Given the description of an element on the screen output the (x, y) to click on. 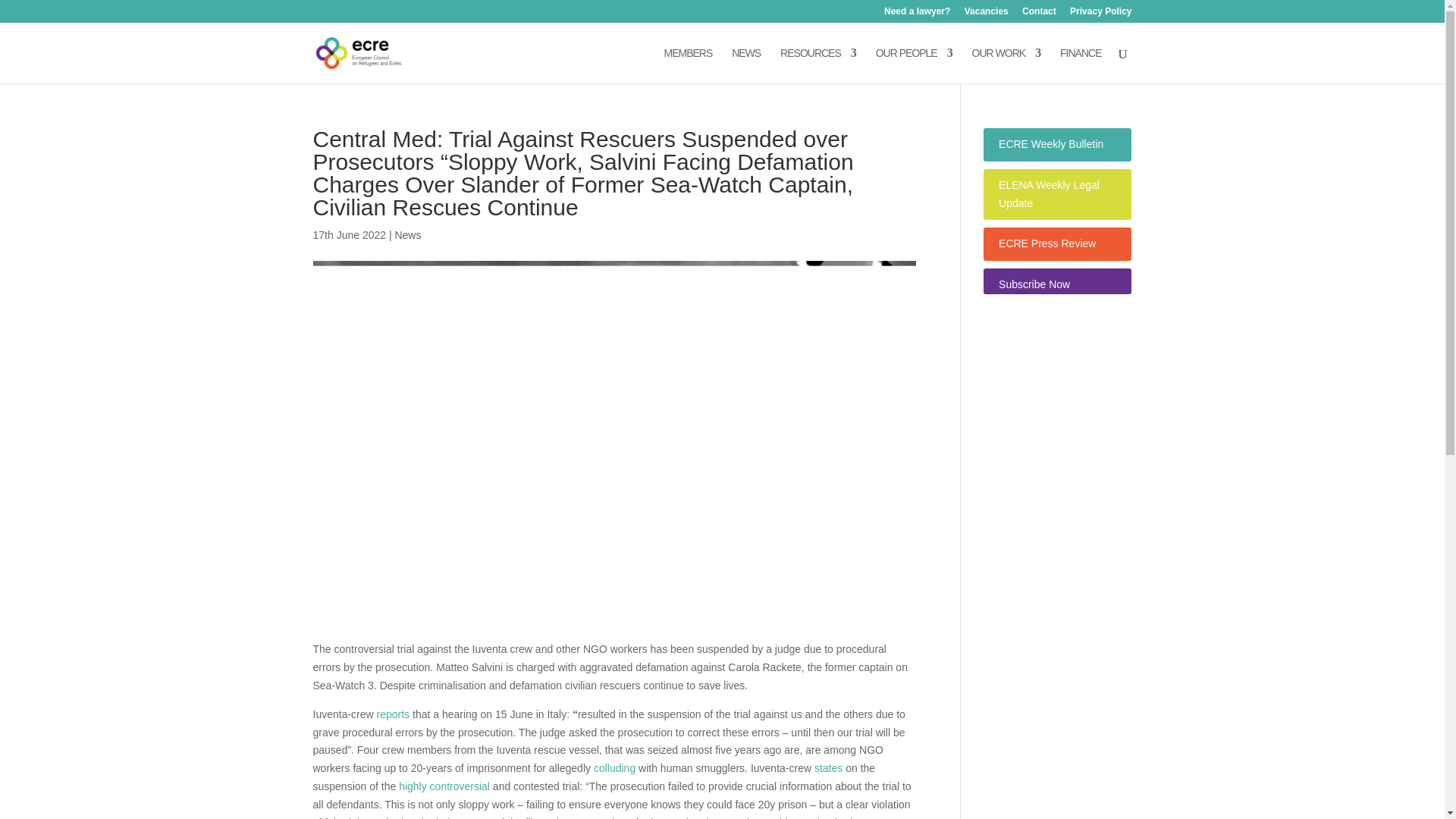
colluding (612, 767)
RESOURCES (818, 65)
ECRE Weekly Bulletin (1050, 143)
highly controversial (443, 786)
Contact (1039, 14)
ECRE Press Review (1047, 243)
MEMBERS (688, 65)
OUR PEOPLE (914, 65)
Vacancies (986, 14)
Need a lawyer? (916, 14)
